Given the description of an element on the screen output the (x, y) to click on. 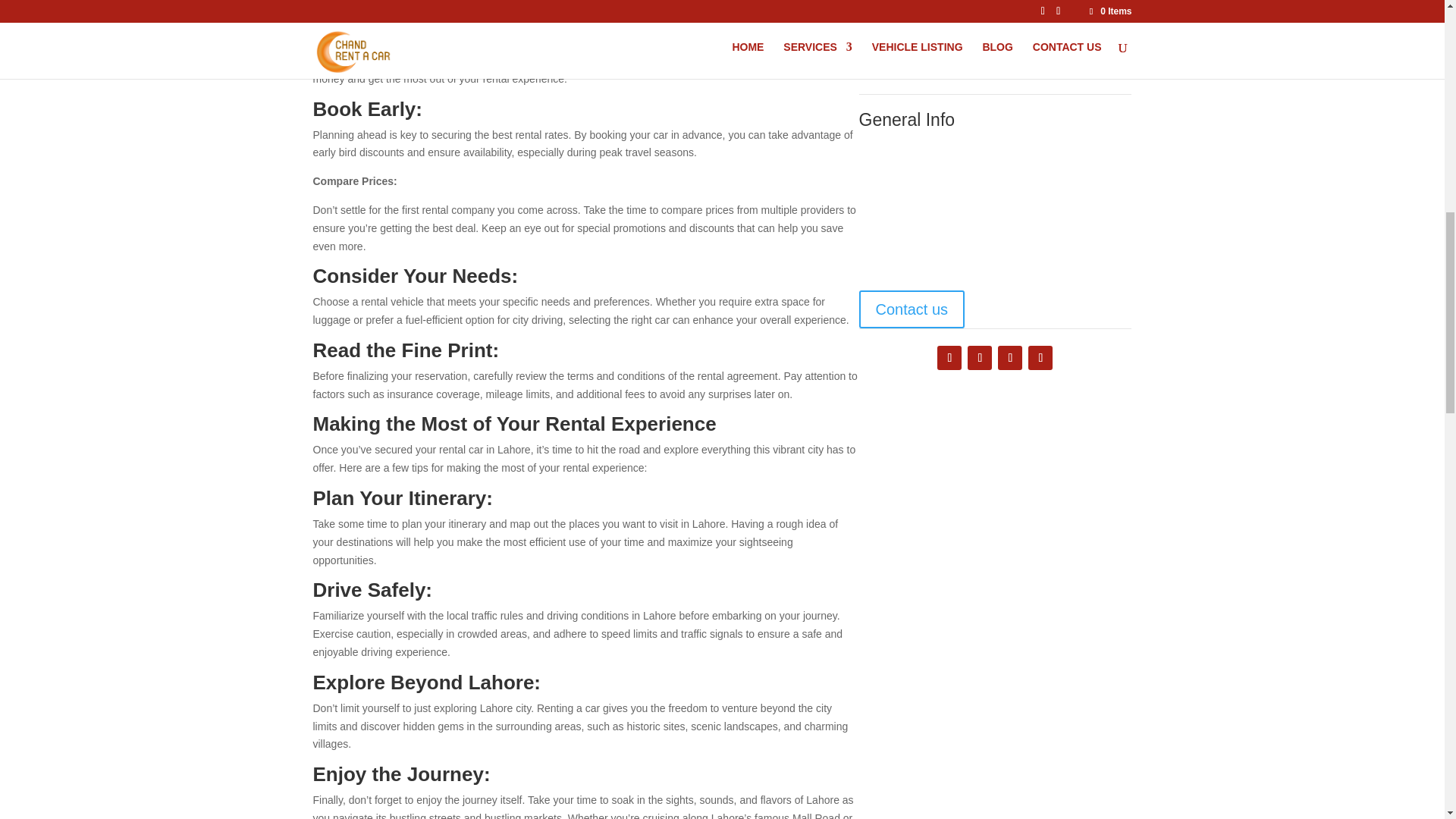
Follow on X (979, 357)
Follow on Instagram (1009, 357)
Follow on Youtube (1039, 357)
Contact us (911, 309)
Follow on Facebook (948, 357)
